Given the description of an element on the screen output the (x, y) to click on. 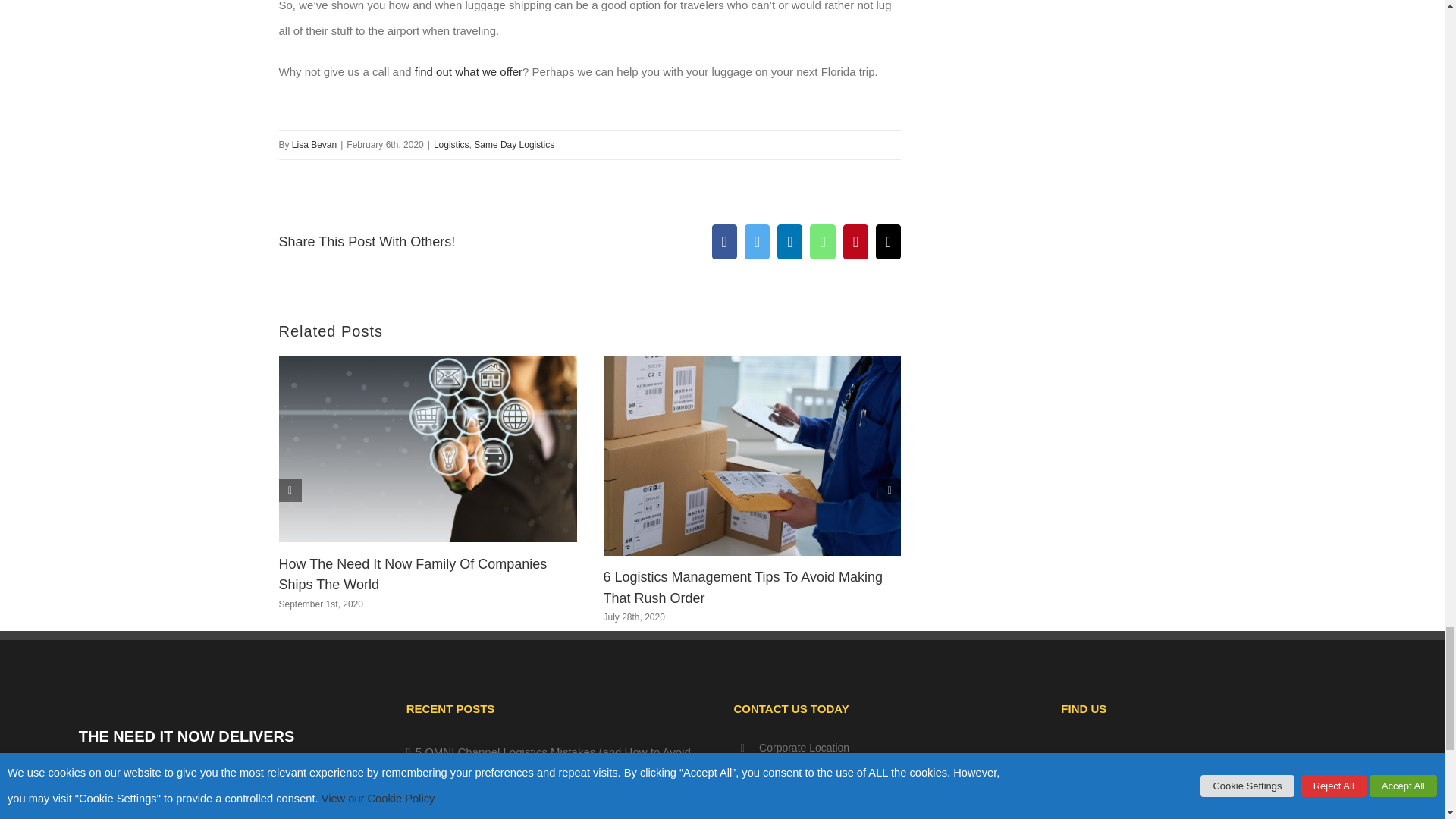
How The Need It Now Family Of Companies Ships The World (413, 574)
Twitter (757, 241)
Posts by Lisa Bevan (314, 144)
find out what we offer (468, 71)
6 Logistics Management Tips To Avoid Making That Rush Order (743, 587)
Logistics (450, 144)
Facebook (723, 241)
Lisa Bevan (314, 144)
Same Day Logistics (514, 144)
